Given the description of an element on the screen output the (x, y) to click on. 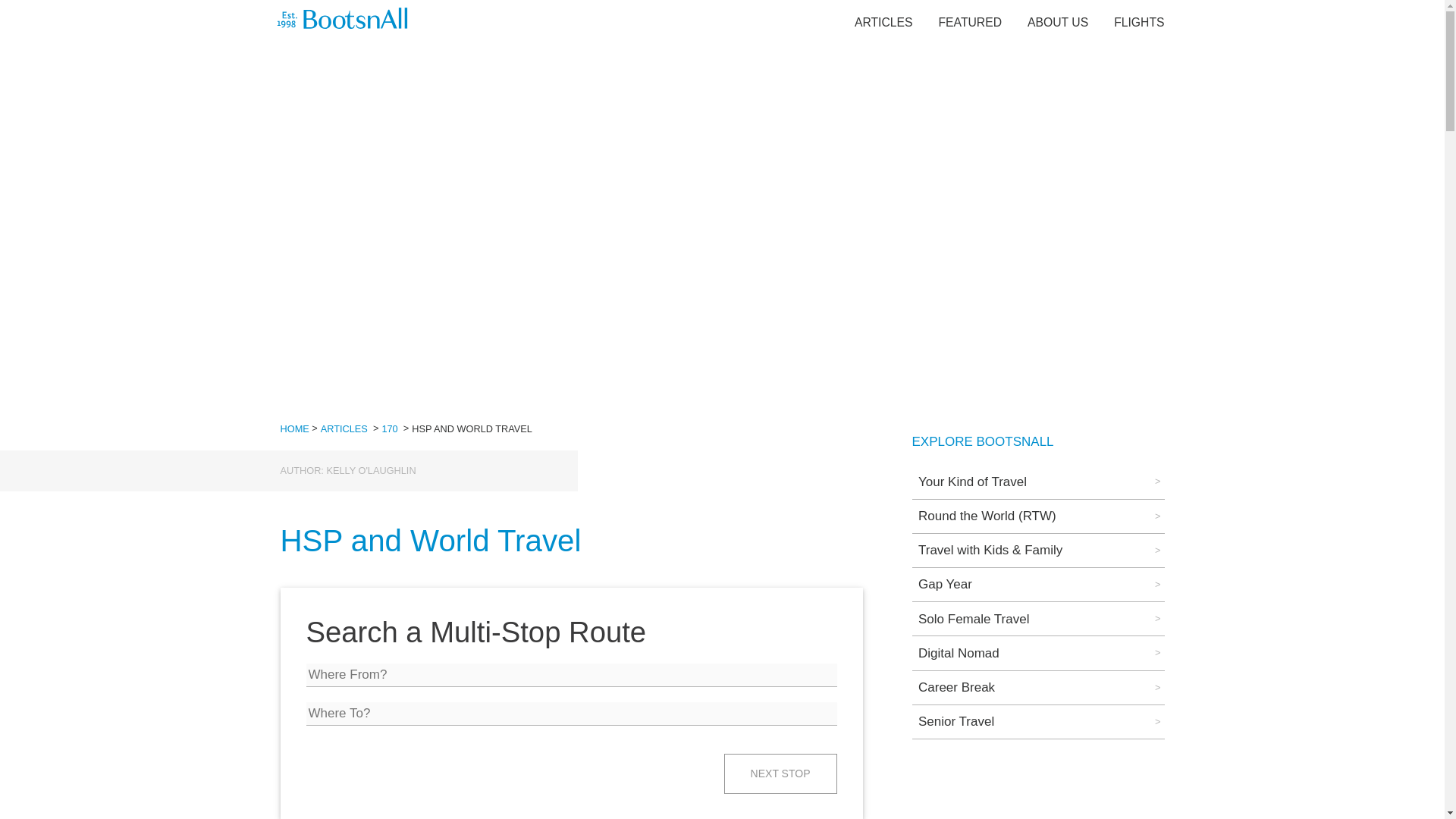
ARTICLES (883, 21)
Your Kind of Travel (1037, 481)
Solo Female Travel (1037, 618)
Senior Travel (1037, 721)
170 (389, 428)
FLIGHTS (1138, 21)
ABOUT US (1057, 21)
NEXT STOP (780, 773)
Career Break (1037, 686)
HOME (294, 428)
